Given the description of an element on the screen output the (x, y) to click on. 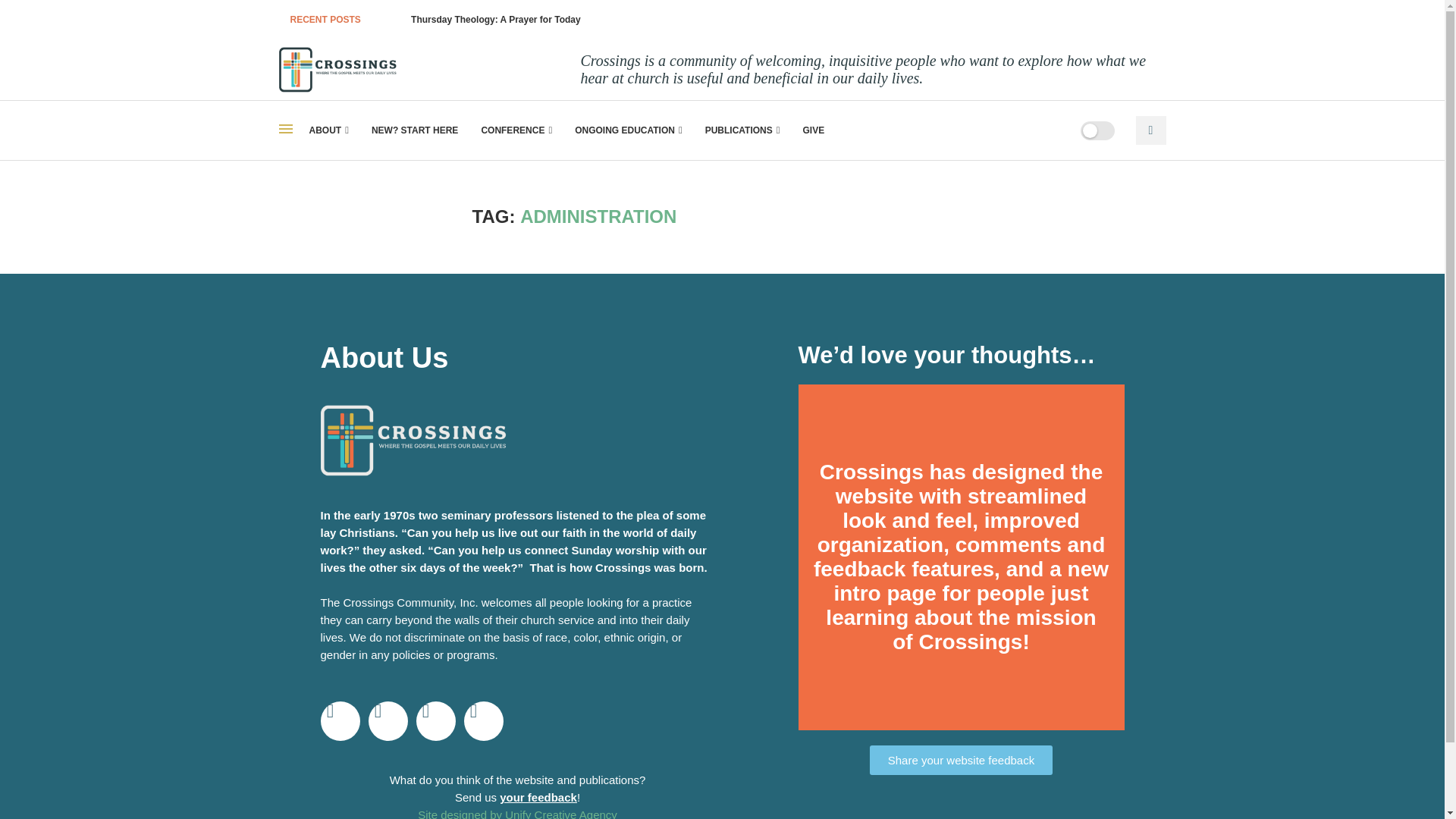
Thursday Theology: A Prayer for Today (495, 19)
